Given the description of an element on the screen output the (x, y) to click on. 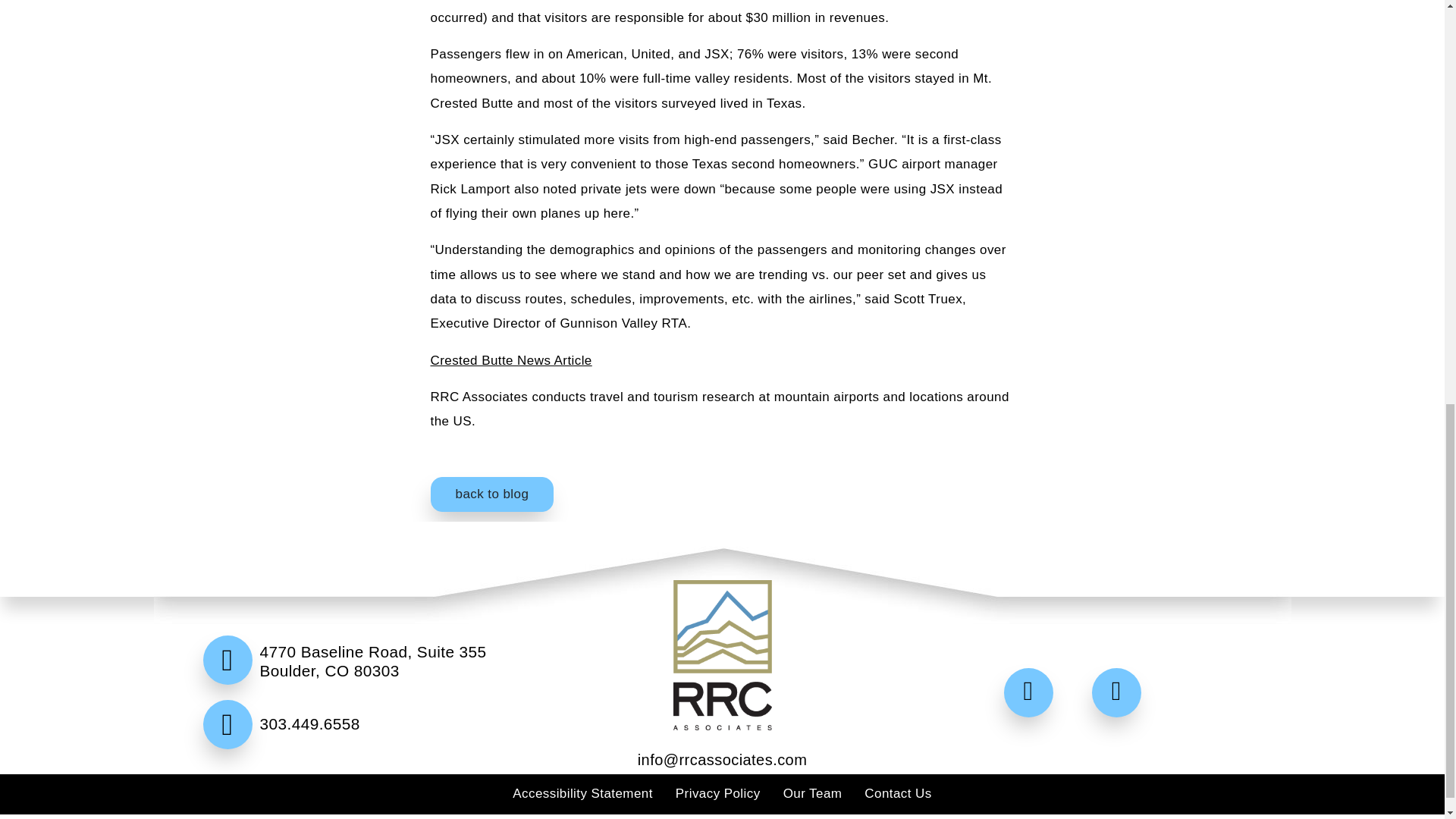
RRC Associates on LinkedIn (1120, 693)
Contact Us (897, 793)
303.449.6558 (368, 758)
back to blog (492, 493)
4770 Baseline Road, Suite 355 Boulder, CO 80303 (368, 670)
Our Team (813, 793)
Accessibility Statement (582, 793)
Crested Butte News Article (511, 359)
Privacy Policy (717, 793)
RRC Associates on Twitter (1032, 693)
